Given the description of an element on the screen output the (x, y) to click on. 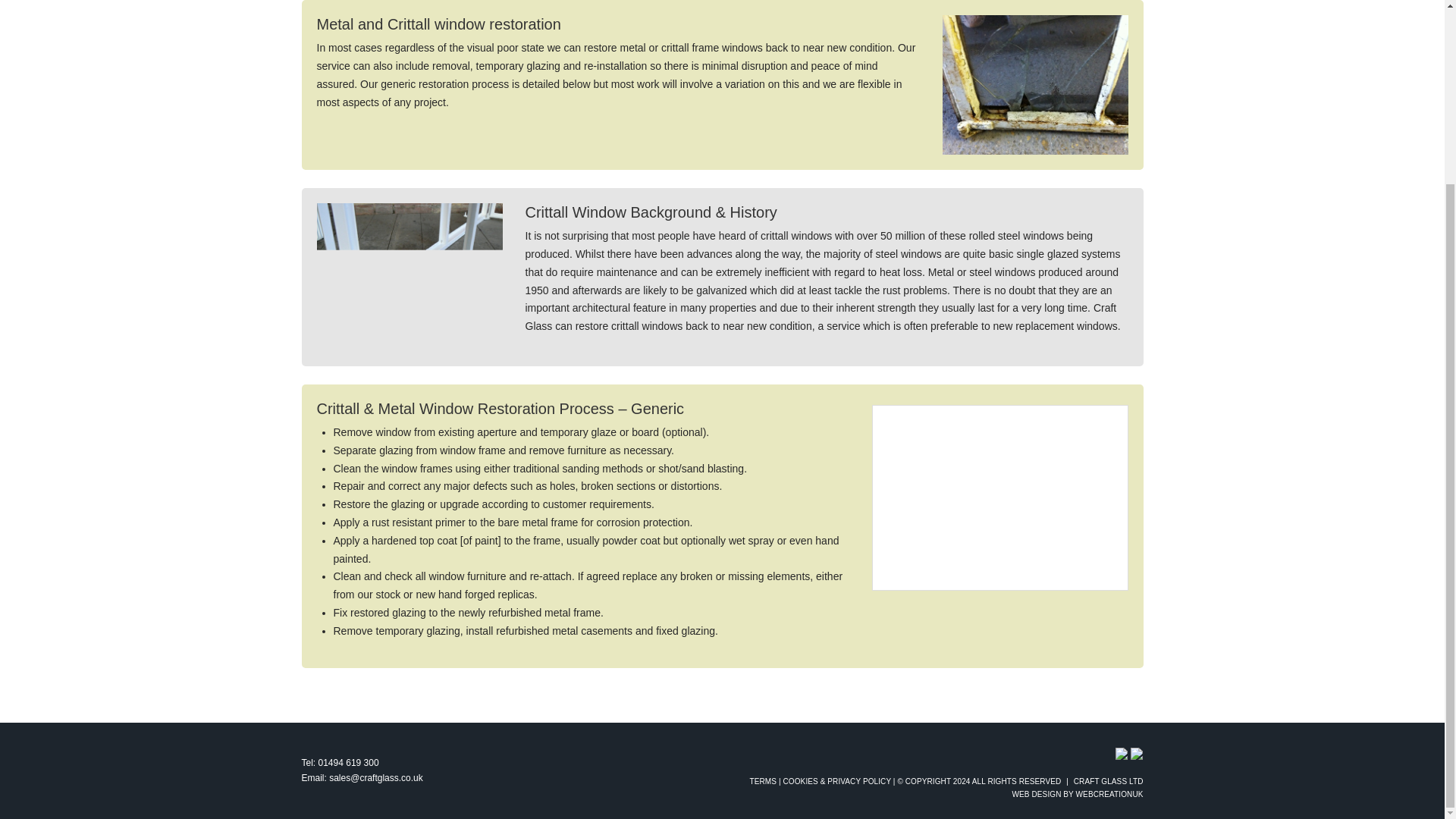
01494 619 300 (348, 762)
TERMS (763, 781)
